Given the description of an element on the screen output the (x, y) to click on. 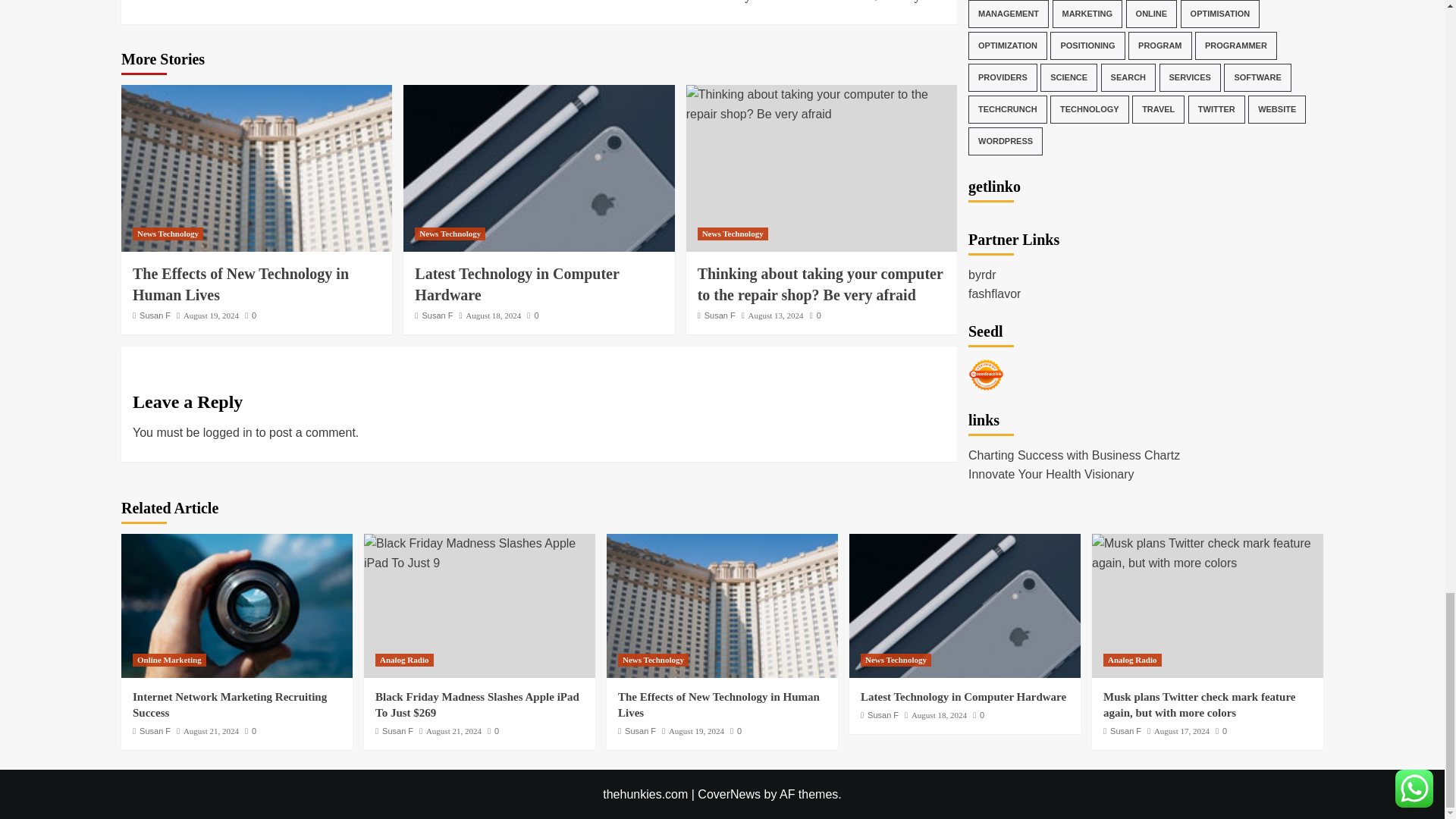
Latest Technology in Computer Hardware (516, 284)
The Effects of New Technology in Human Lives (255, 168)
News Technology (167, 233)
August 19, 2024 (210, 315)
0 (335, 2)
The Effects of New Technology in Human Lives (250, 315)
Susan F (240, 284)
August 18, 2024 (154, 315)
Latest Technology in Computer Hardware (493, 315)
